Given the description of an element on the screen output the (x, y) to click on. 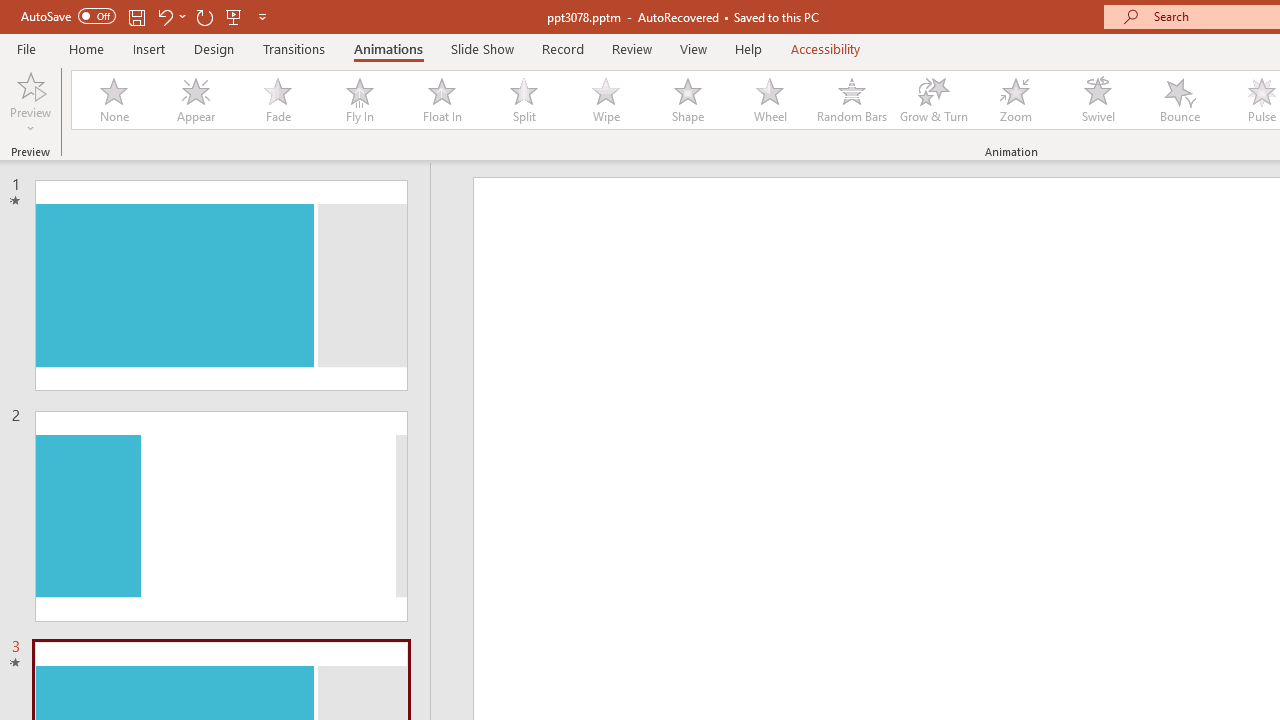
Fly In (359, 100)
Split (523, 100)
Preview (30, 102)
None (113, 100)
